Given the description of an element on the screen output the (x, y) to click on. 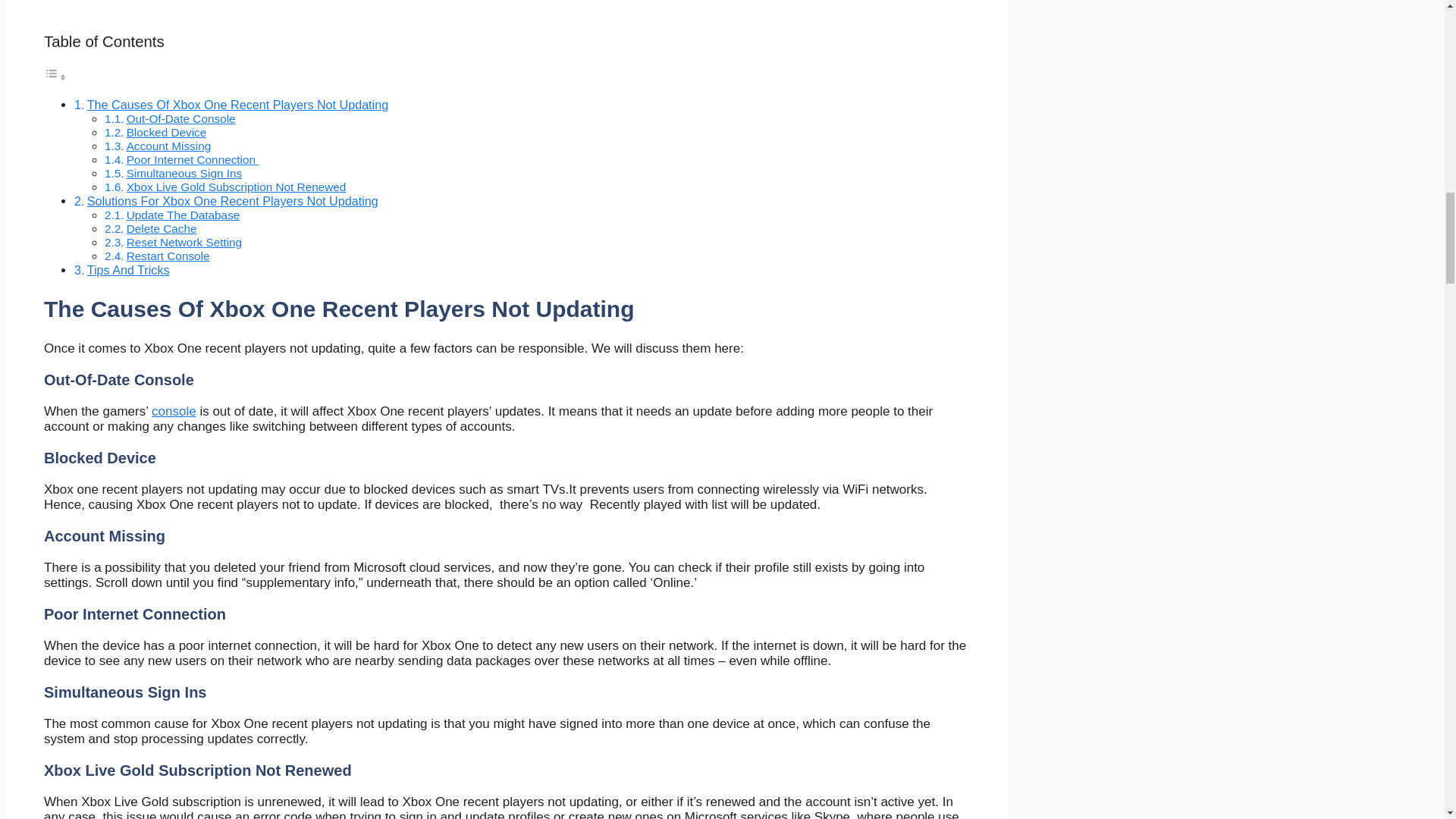
Solutions For Xbox One Recent Players Not Updating (232, 201)
Delete Cache (161, 228)
Blocked Device (166, 132)
Xbox Live Gold Subscription Not Renewed (236, 186)
The Causes Of Xbox One Recent Players Not Updating (237, 104)
Out-Of-Date Console (180, 118)
Reset Network Setting (184, 241)
Update The Database (183, 214)
Tips And Tricks (128, 269)
Account Missing (168, 145)
The Causes Of Xbox One Recent Players Not Updating (237, 104)
Out-Of-Date Console (180, 118)
Simultaneous Sign Ins (184, 173)
Update The Database (183, 214)
